Given the description of an element on the screen output the (x, y) to click on. 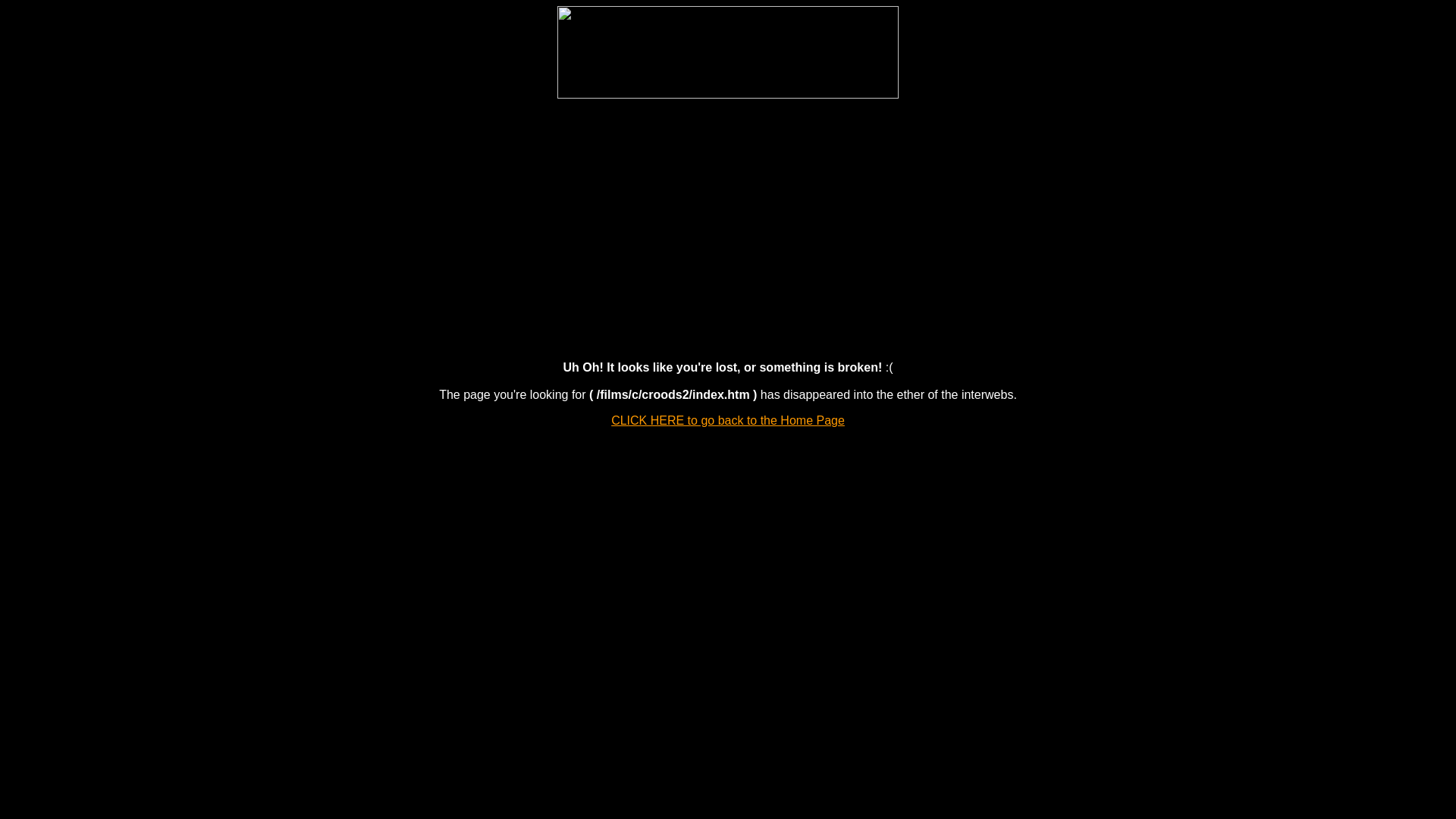
CLICK HERE to go back to the Home Page Element type: text (727, 420)
